Given the description of an element on the screen output the (x, y) to click on. 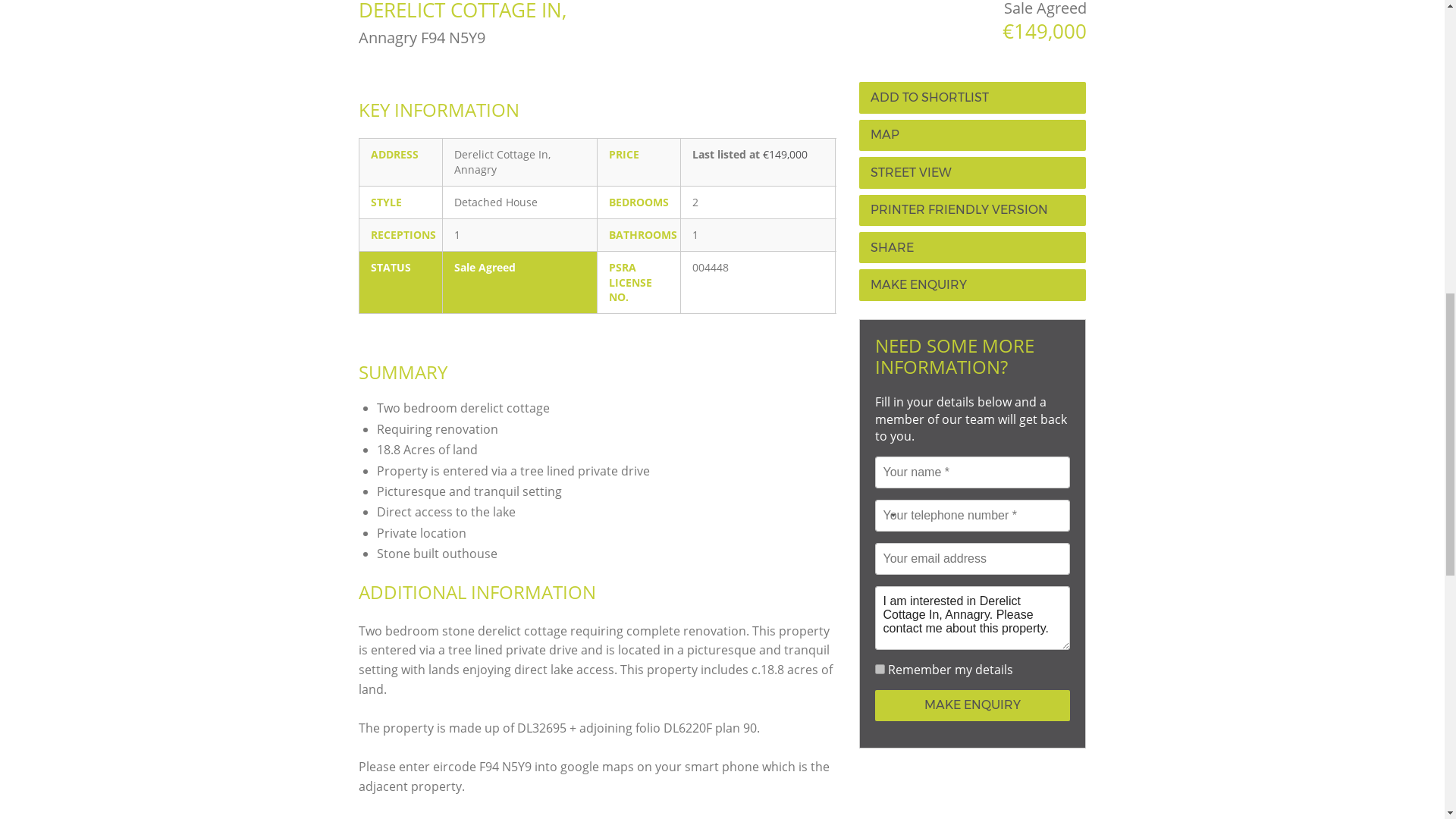
true (880, 669)
